Given the description of an element on the screen output the (x, y) to click on. 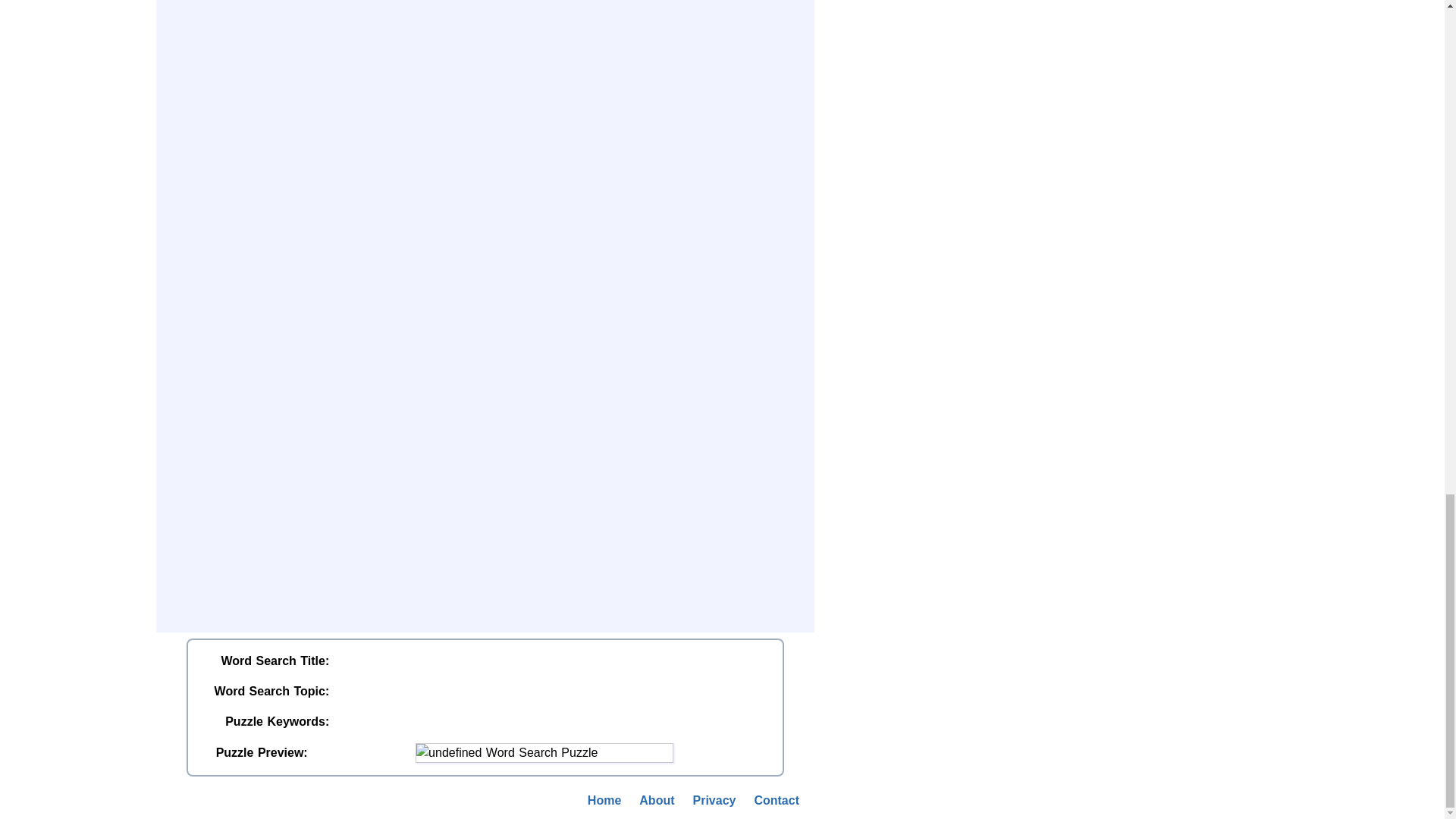
About (656, 800)
Contact (776, 800)
Home (604, 800)
Privacy (714, 800)
